Given the description of an element on the screen output the (x, y) to click on. 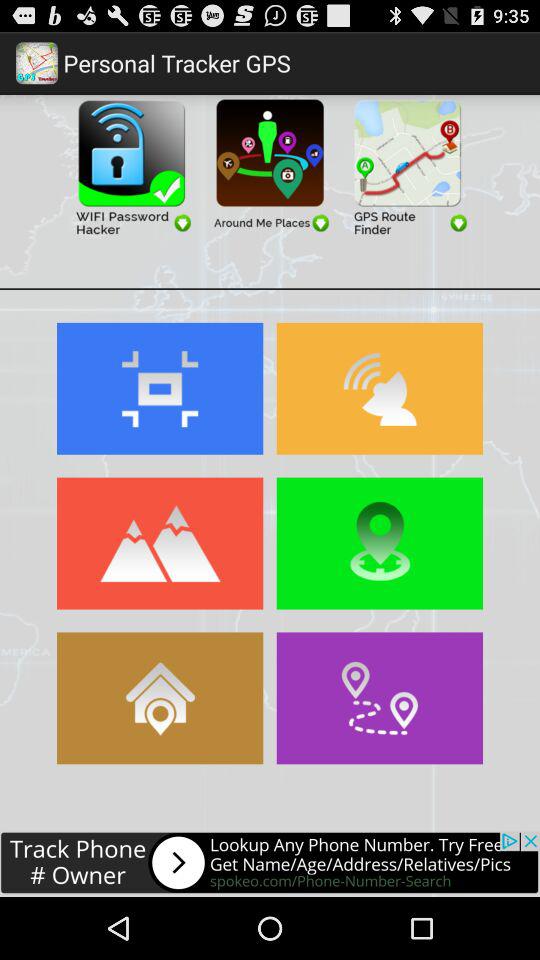
open navigation (379, 698)
